Given the description of an element on the screen output the (x, y) to click on. 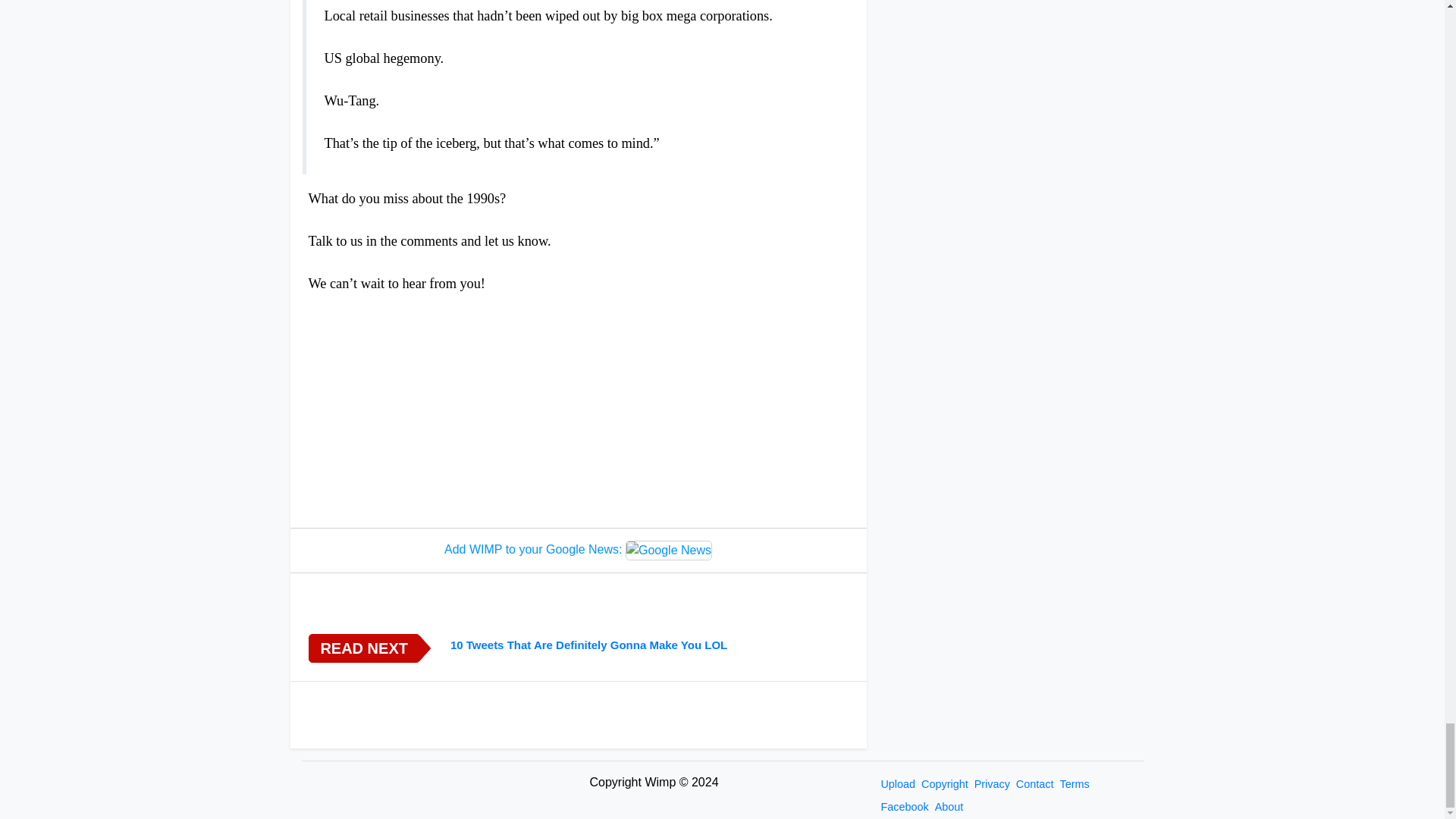
Contact (1035, 784)
10 Tweets That Are Definitely Gonna Make You LOL (648, 644)
Privacy (992, 784)
READ NEXT (363, 647)
Copyright (944, 784)
Terms (1074, 784)
Add WIMP to your Google News: (577, 550)
Google News (668, 550)
10 Tweets That Are Definitely Gonna Make You LOL (648, 644)
Upload (897, 784)
